Given the description of an element on the screen output the (x, y) to click on. 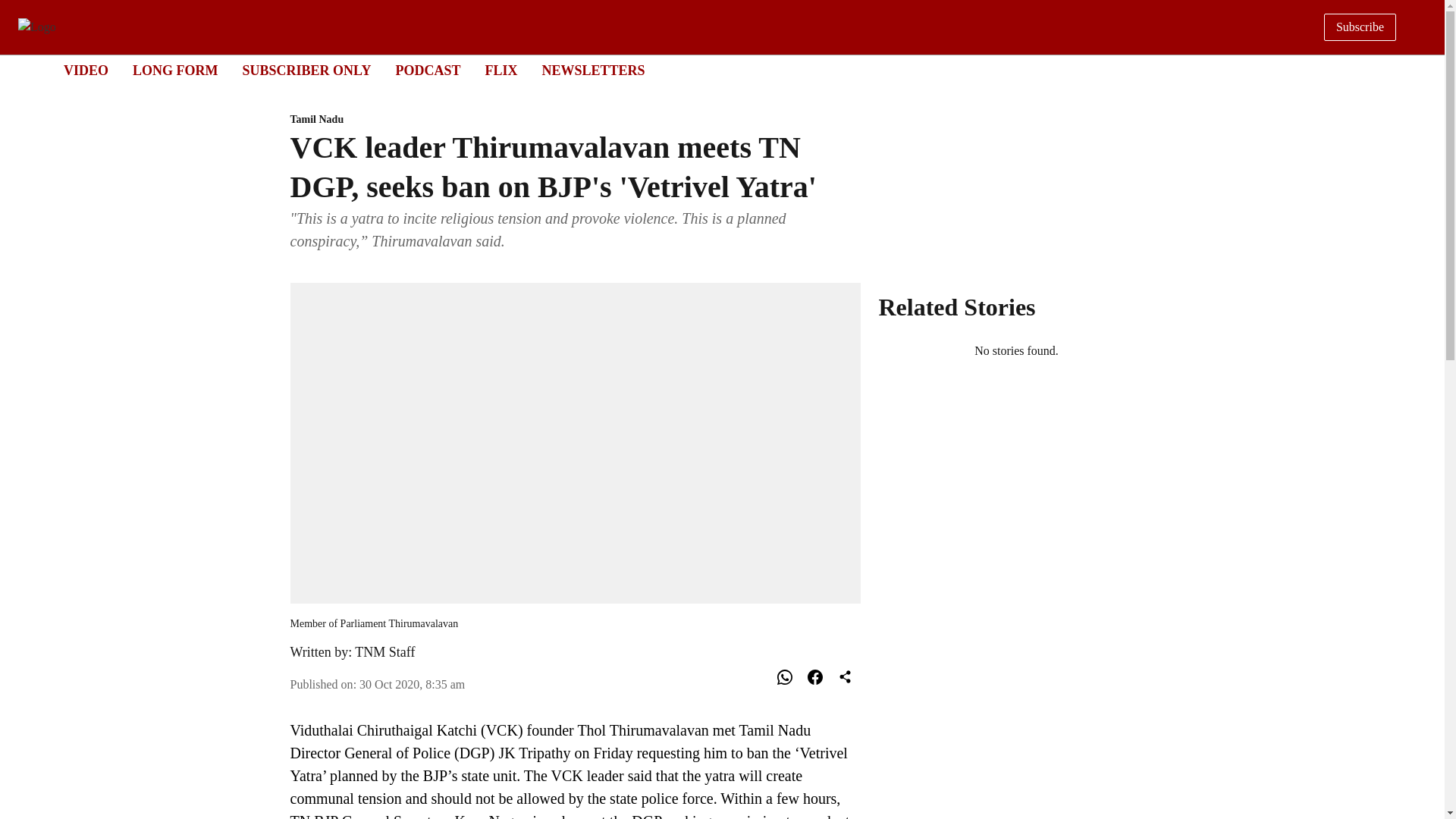
NEWSLETTERS (593, 70)
2020-10-30 08:35 (411, 684)
SUBSCRIBER ONLY (307, 70)
VIDEO (85, 70)
LONG FORM (175, 70)
TNM Staff (384, 652)
Tamil Nadu (574, 119)
FLIX (500, 70)
PODCAST (707, 70)
